Given the description of an element on the screen output the (x, y) to click on. 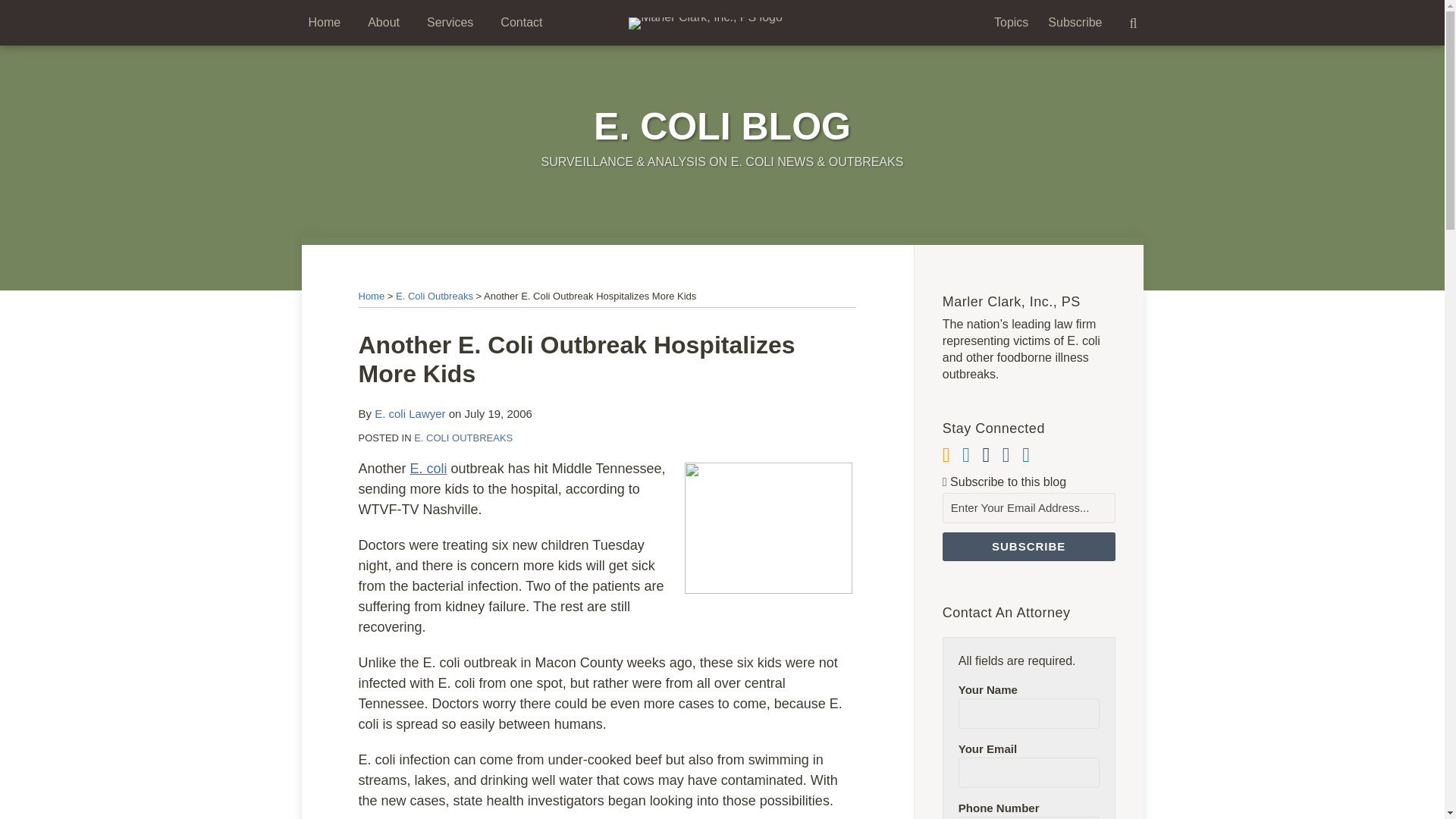
E. COLI BLOG (722, 126)
Topics (1010, 22)
E. Coli Outbreaks (434, 296)
E. coli (428, 468)
E. coli Lawyer (409, 413)
E. COLI OUTBREAKS (462, 437)
Subscribe (1075, 22)
Services (449, 22)
Home (371, 296)
About (383, 22)
Contact (520, 22)
Subscribe (1028, 546)
Home (323, 22)
Subscribe (1028, 546)
